Given the description of an element on the screen output the (x, y) to click on. 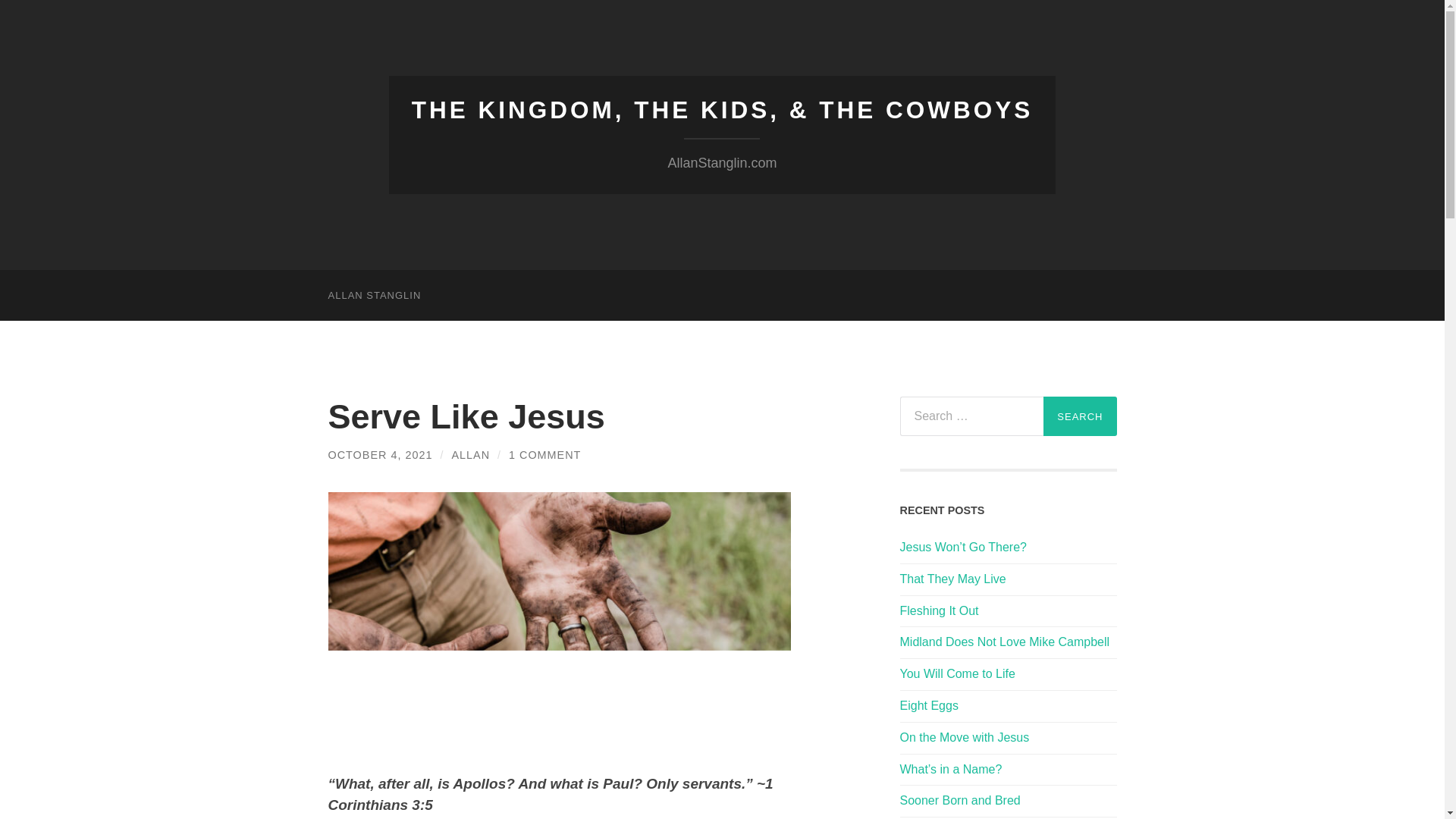
On the Move with Jesus (1007, 738)
ALLAN STANGLIN (374, 295)
You Will Come to Life (1007, 674)
Sooner Born and Bred (1007, 801)
Midland Does Not Love Mike Campbell (1007, 642)
Fleshing It Out (1007, 611)
Search (1079, 415)
1 COMMENT (544, 454)
ALLAN (470, 454)
That They May Live (1007, 579)
